Given the description of an element on the screen output the (x, y) to click on. 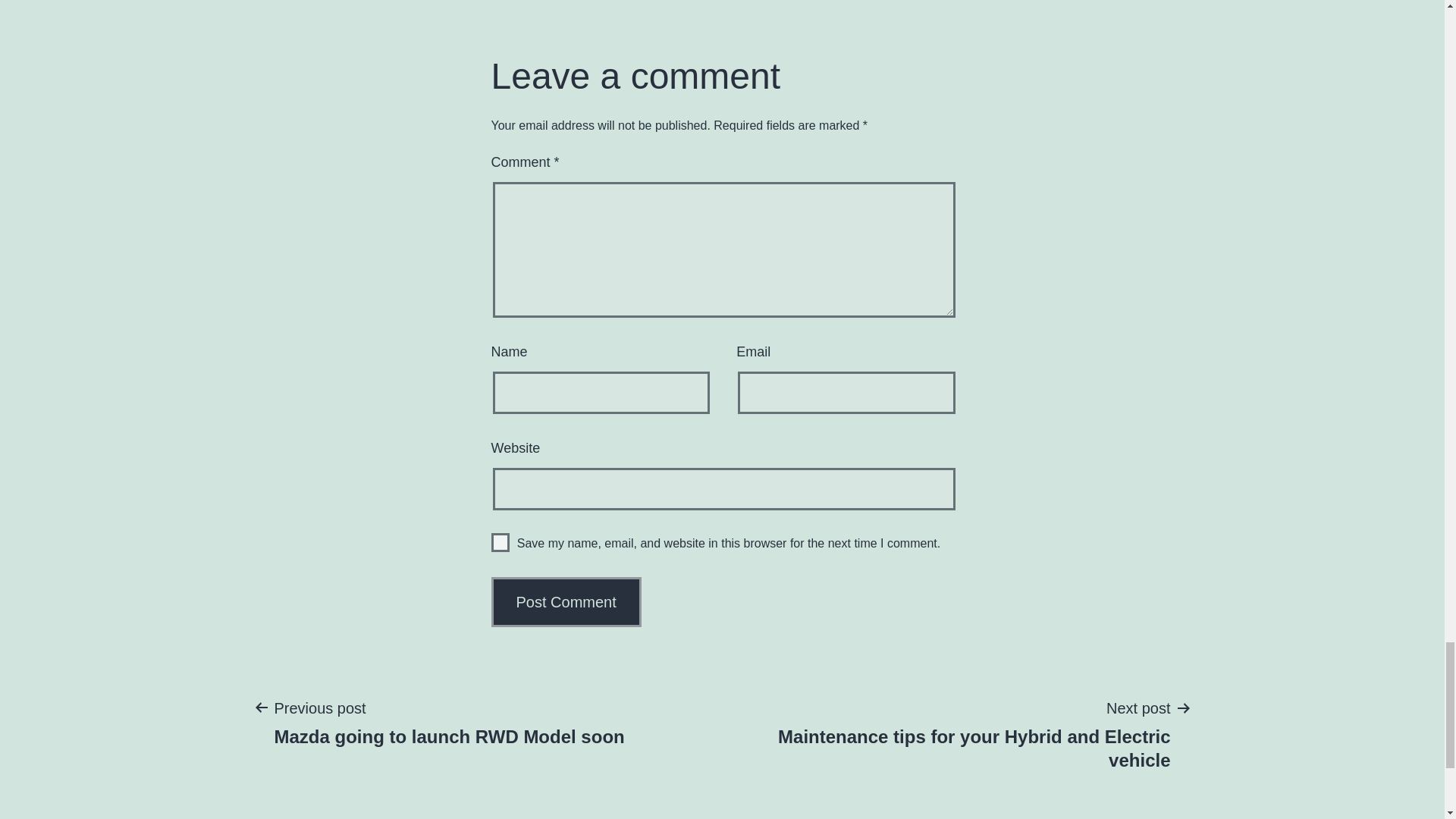
yes (500, 542)
Post Comment (567, 602)
Post Comment (448, 721)
